Given the description of an element on the screen output the (x, y) to click on. 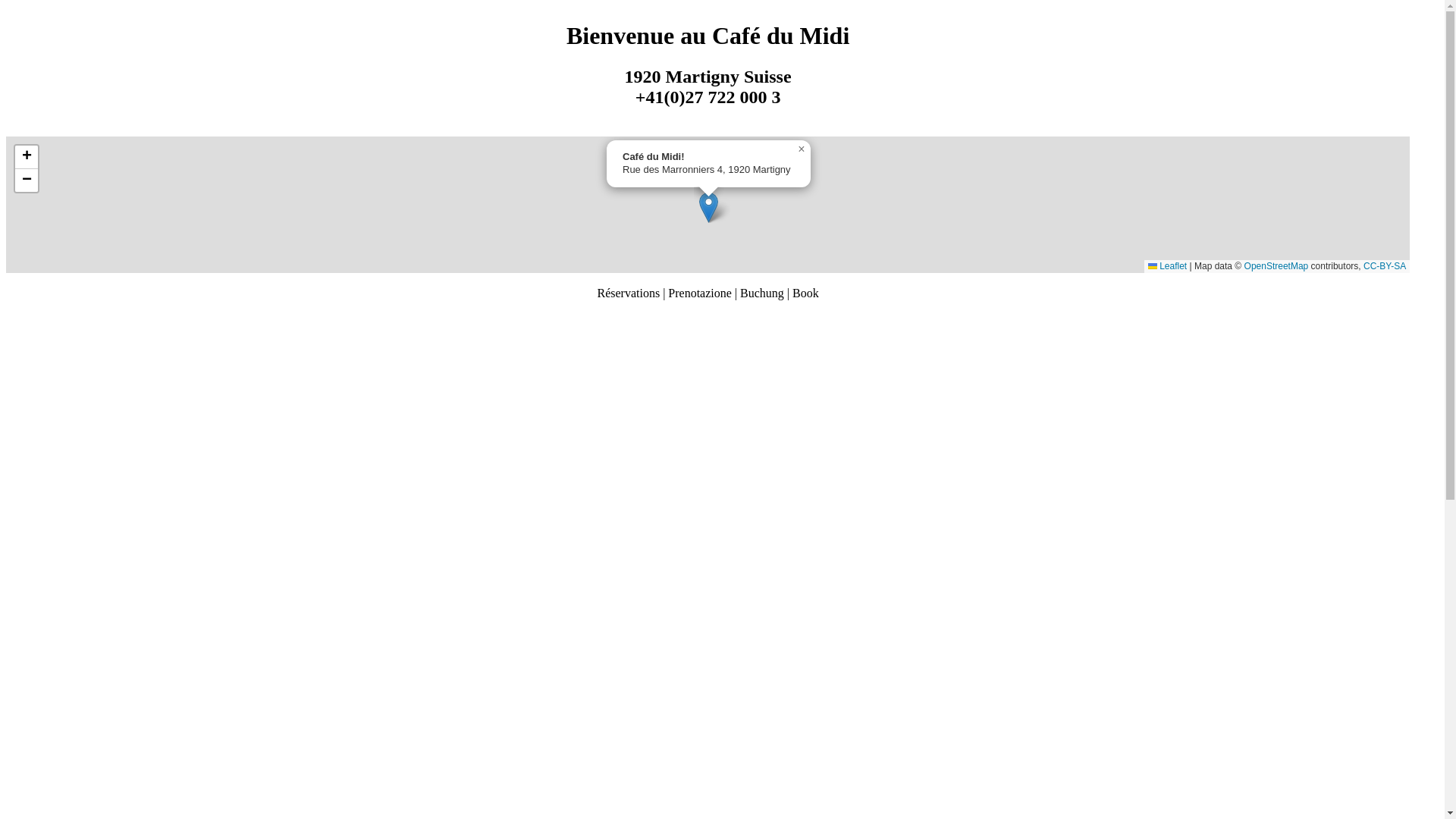
CC-BY-SA Element type: text (1384, 265)
Leaflet Element type: text (1167, 265)
+ Element type: text (26, 157)
OpenStreetMap Element type: text (1276, 265)
